Given the description of an element on the screen output the (x, y) to click on. 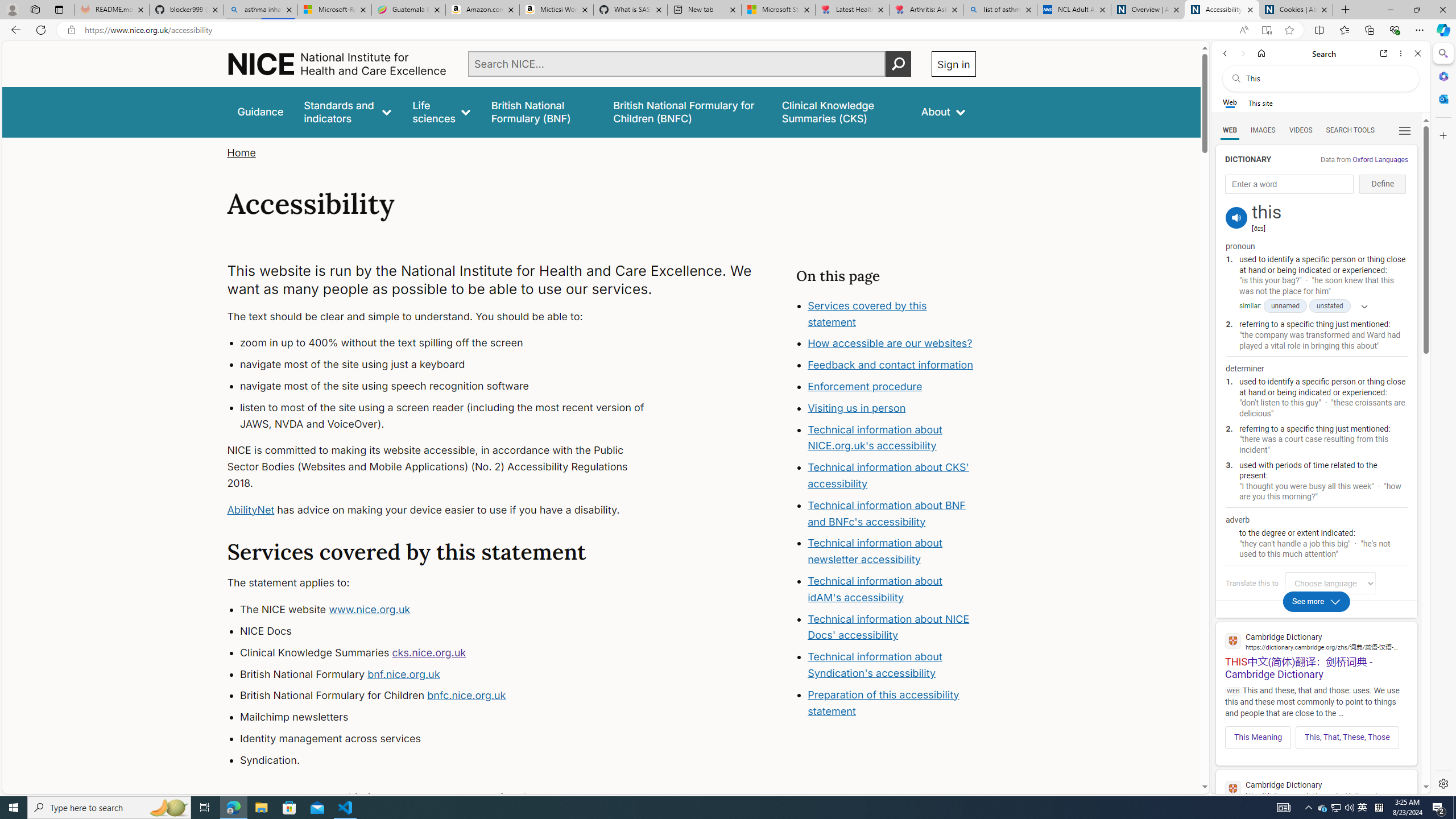
How accessible are our websites? (890, 343)
Preferences (1403, 129)
Oxford Languages (1379, 159)
Search the web (1326, 78)
Enter a word (1289, 184)
